Given the description of an element on the screen output the (x, y) to click on. 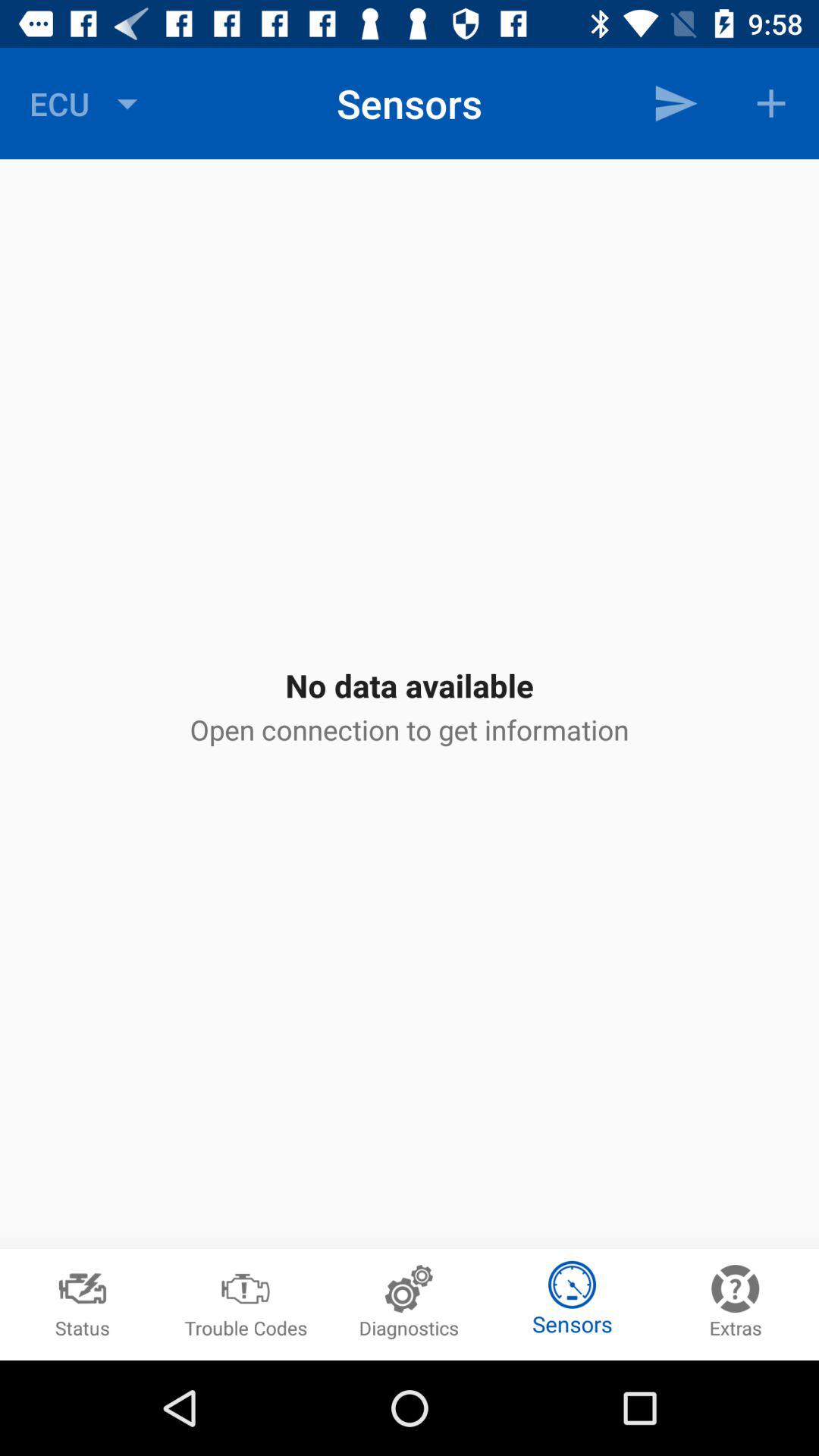
scroll to ecu icon (87, 103)
